Given the description of an element on the screen output the (x, y) to click on. 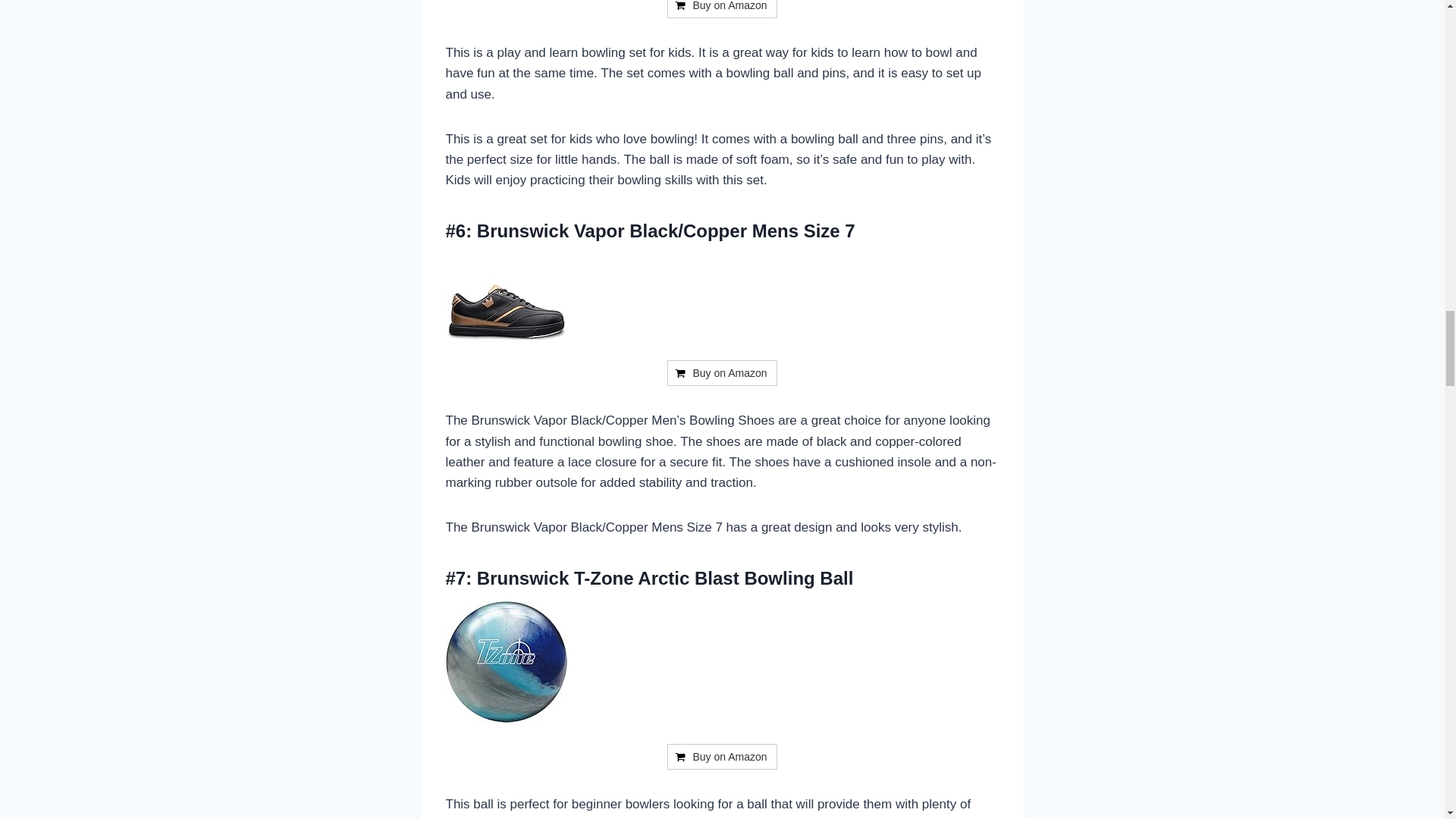
Buy on Amazon (721, 756)
Buy on Amazon (721, 9)
Buy on Amazon (721, 372)
Buy on Amazon (721, 9)
Buy on Amazon (721, 372)
